Given the description of an element on the screen output the (x, y) to click on. 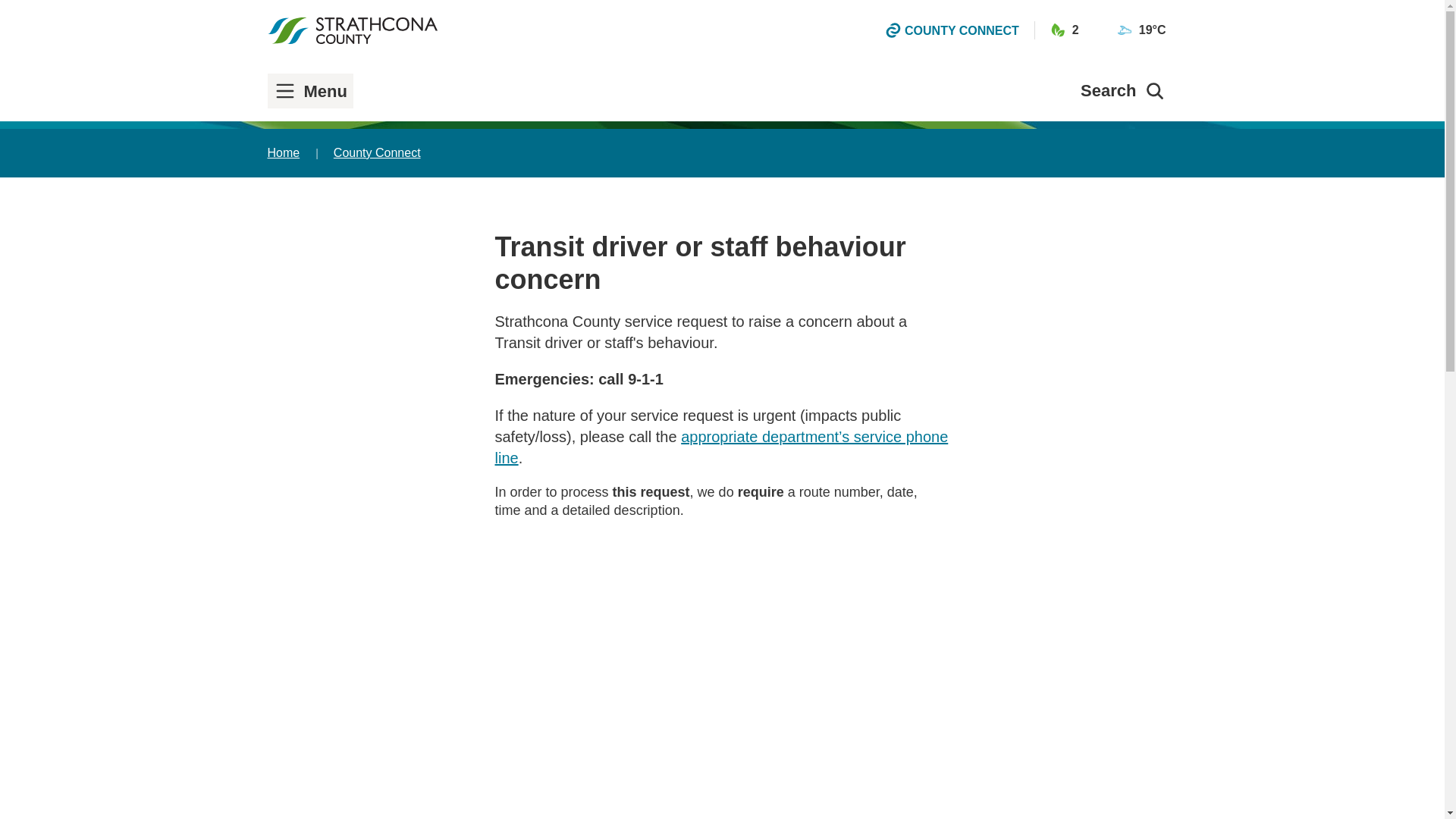
Search (1122, 90)
COUNTY CONNECT (952, 29)
Menu (311, 90)
